Given the description of an element on the screen output the (x, y) to click on. 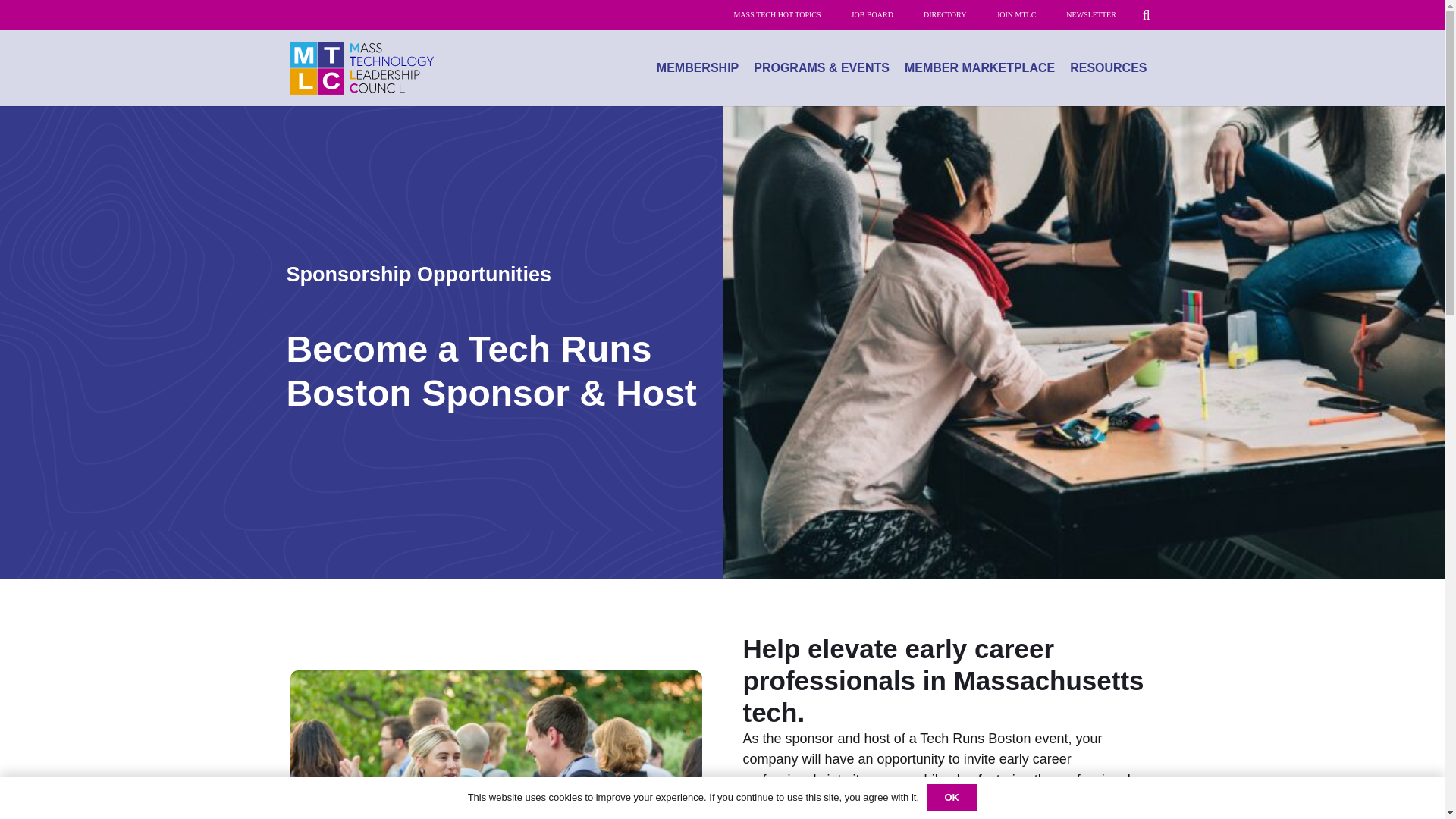
JOIN MTLC (1016, 15)
NEWSLETTER (1091, 15)
MEMBERSHIP (697, 68)
Chat Widget (1406, 782)
JOB BOARD (871, 15)
MASS TECH HOT TOPICS (776, 15)
RESOURCES (1108, 68)
MEMBER MARKETPLACE (979, 68)
DIRECTORY (944, 15)
